Given the description of an element on the screen output the (x, y) to click on. 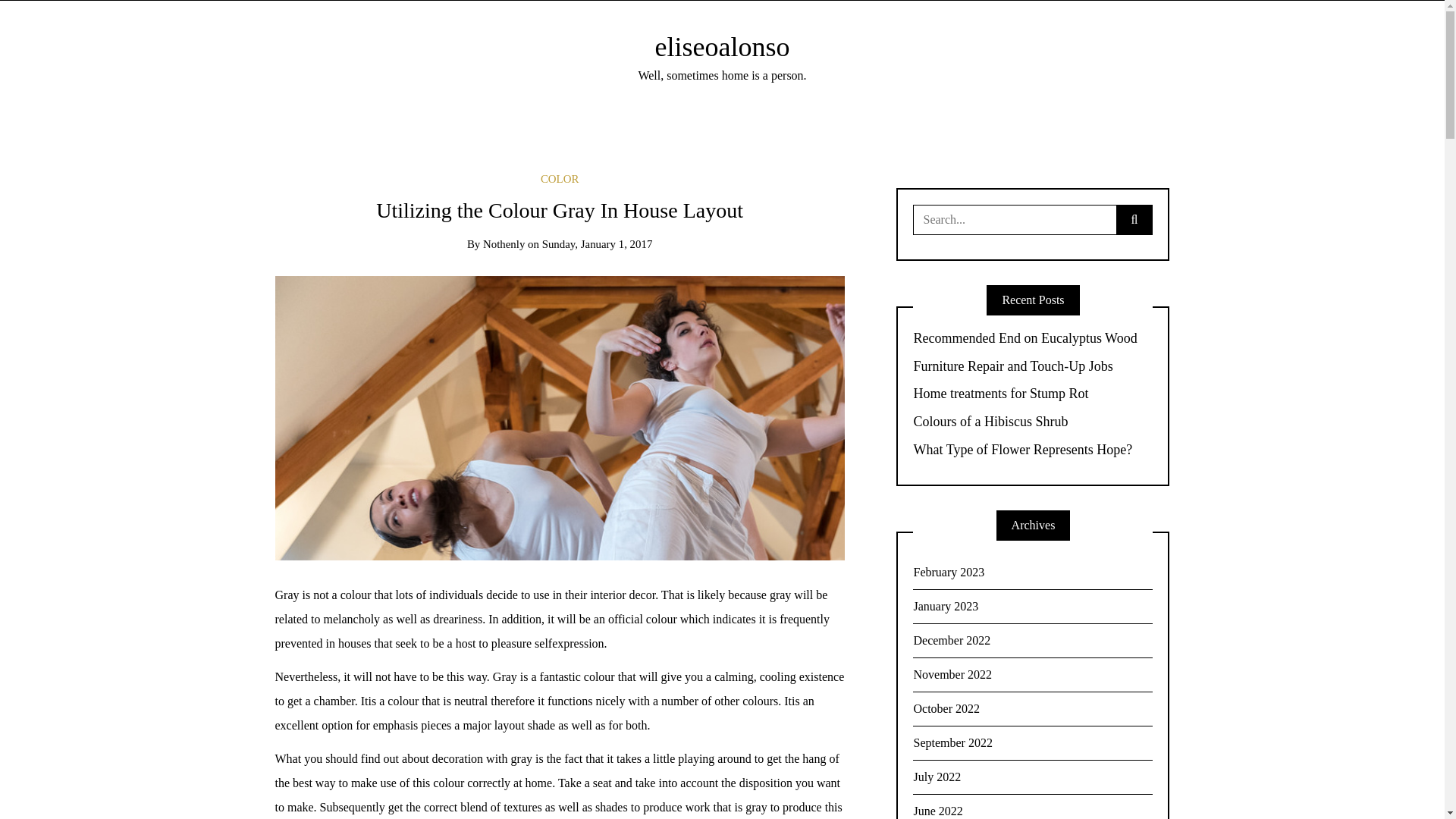
November 2022 (1032, 675)
Home treatments for Stump Rot (1032, 393)
Colours of a Hibiscus Shrub (1032, 422)
February 2023 (1032, 572)
December 2022 (1032, 641)
June 2022 (1032, 806)
Furniture Repair and Touch-Up Jobs (1032, 366)
COLOR (559, 178)
October 2022 (1032, 709)
Search (35, 16)
July 2022 (1032, 777)
January 2023 (1032, 606)
Nothenly (503, 244)
Posts by Nothenly (503, 244)
eliseoalonso (722, 46)
